Given the description of an element on the screen output the (x, y) to click on. 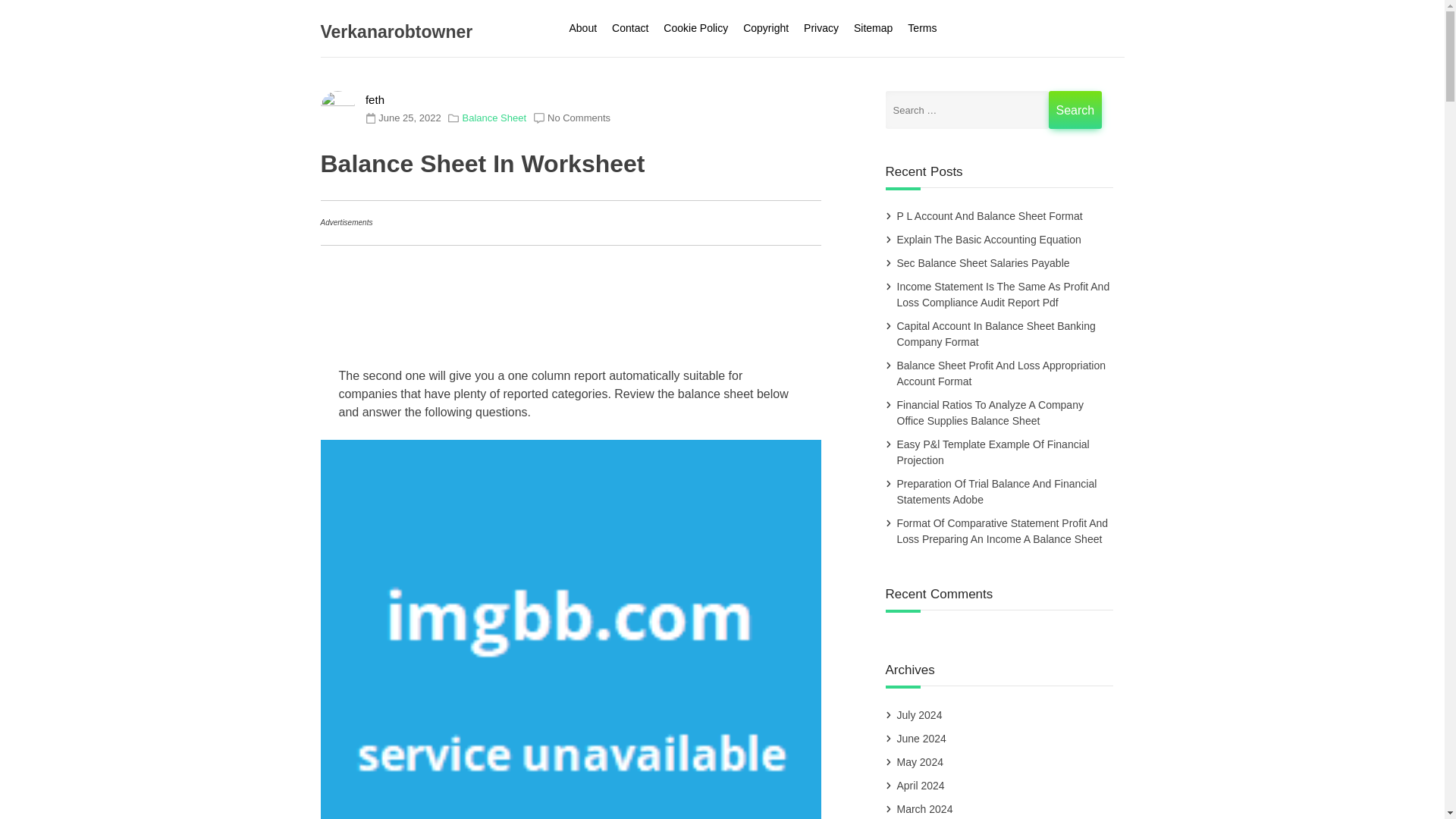
Sec Balance Sheet Salaries Payable (983, 263)
June 2024 (921, 739)
April 2024 (920, 785)
No Comments (578, 117)
Verkanarobtowner (395, 31)
Terms (921, 28)
Sitemap (872, 28)
Cookie Policy (695, 28)
feth (374, 99)
May 2024 (919, 762)
July 2024 (919, 715)
Preparation Of Trial Balance And Financial Statements Adobe (996, 492)
March 2024 (924, 808)
P L Account And Balance Sheet Format (989, 216)
